Given the description of an element on the screen output the (x, y) to click on. 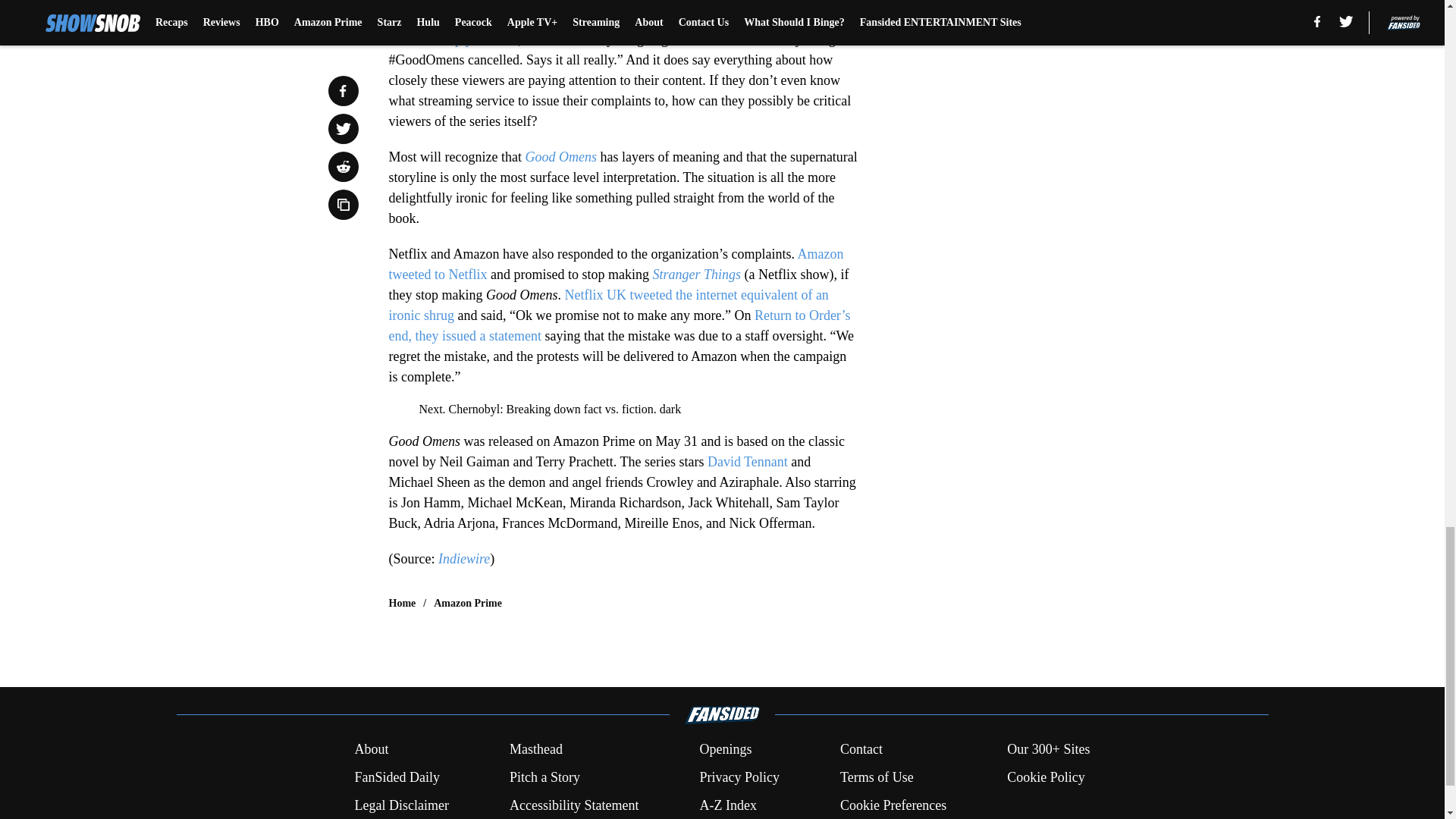
Home (401, 603)
Gaiman simply tweeted (453, 38)
Indiewire (463, 558)
Good Omens (560, 156)
Amazon Prime (467, 603)
Stranger Things (696, 273)
Amazon tweeted to Netflix (615, 263)
David Tennant (747, 461)
